Given the description of an element on the screen output the (x, y) to click on. 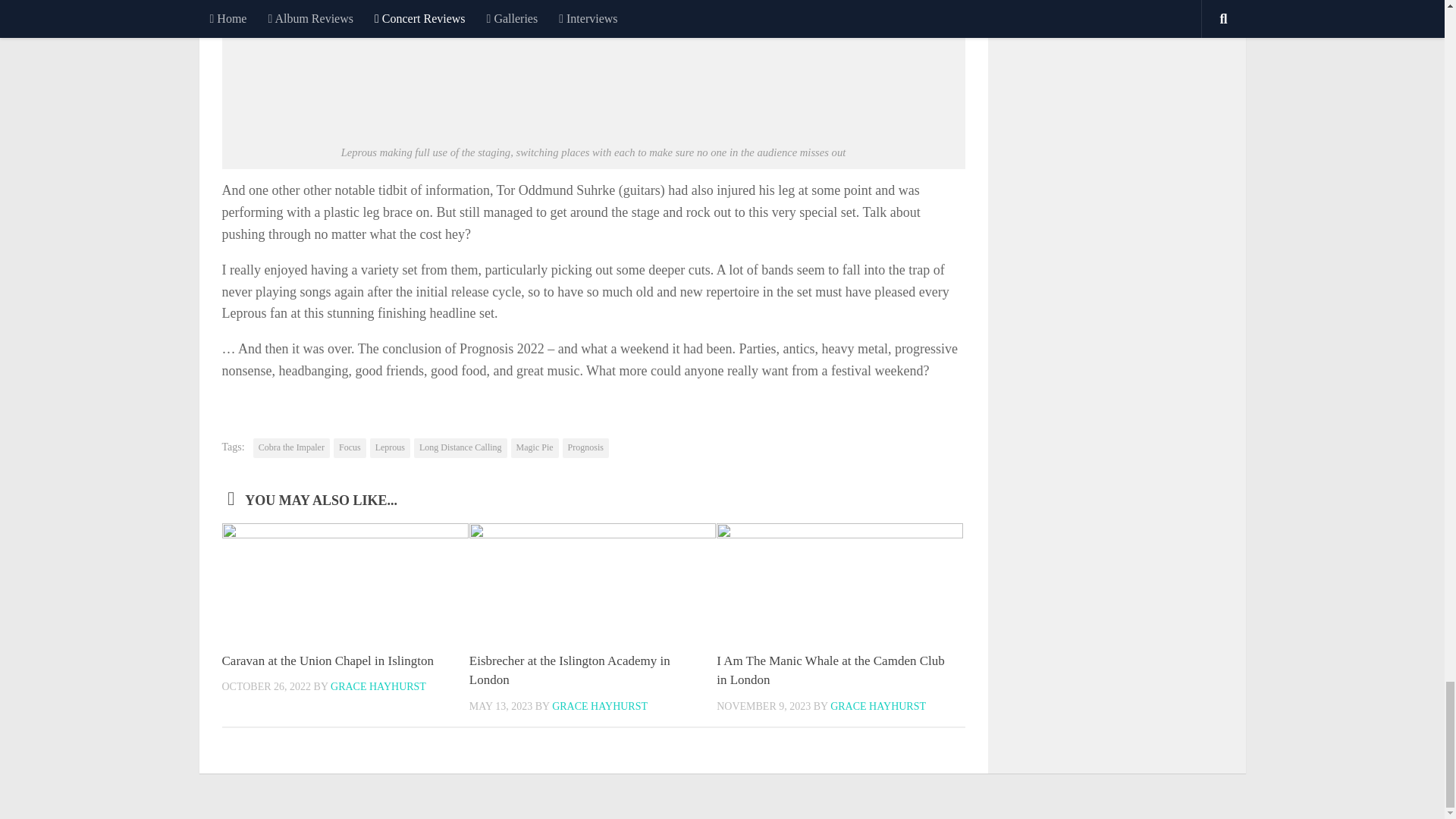
Focus (349, 447)
Cobra the Impaler (291, 447)
Leprous (389, 447)
Posts by Grace Hayhurst (599, 706)
Magic Pie (535, 447)
GRACE HAYHURST (599, 706)
Prognosis (585, 447)
Posts by Grace Hayhurst (877, 706)
Caravan at the Union Chapel in Islington (327, 660)
GRACE HAYHURST (877, 706)
